Given the description of an element on the screen output the (x, y) to click on. 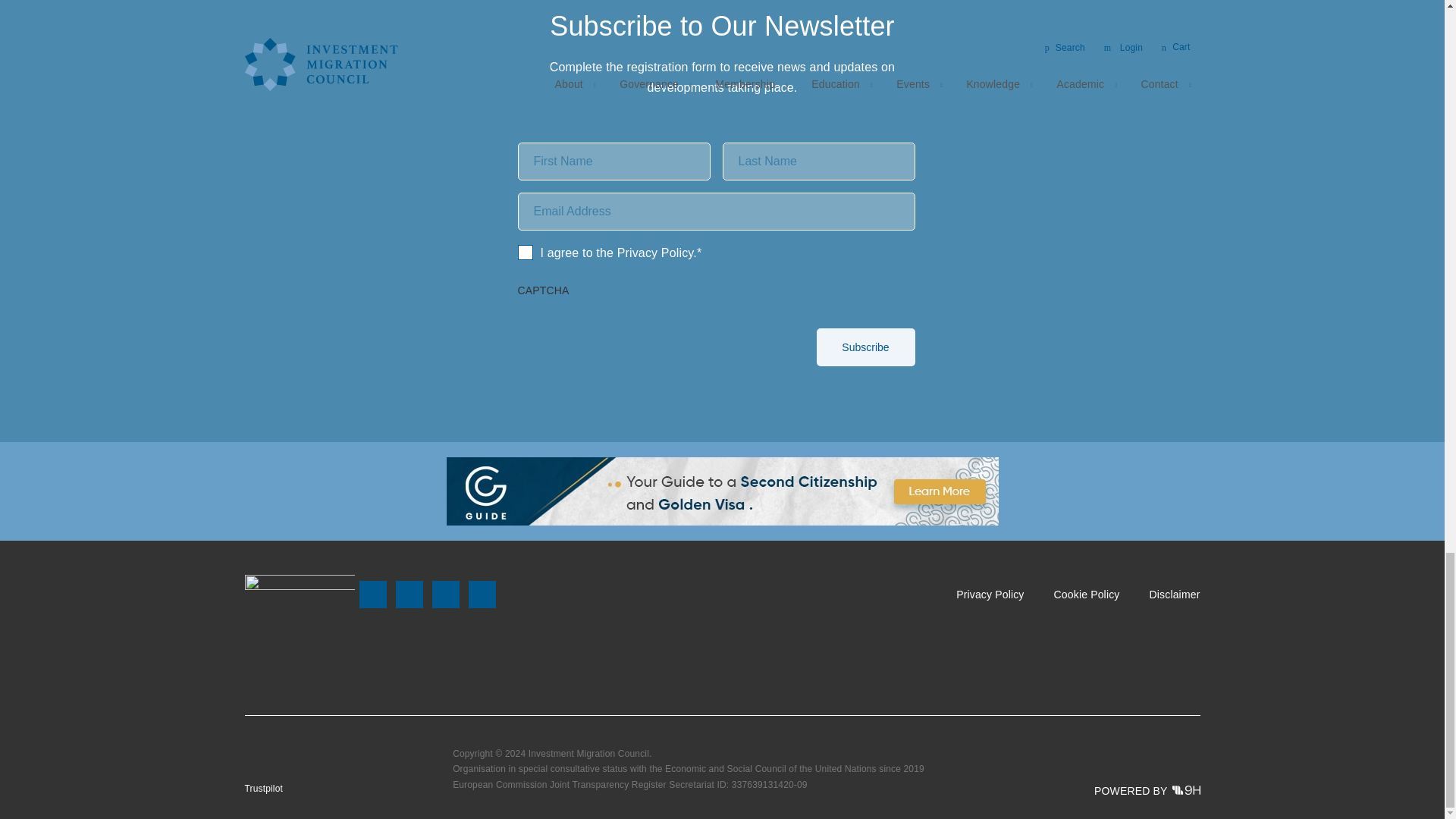
Twitter (407, 594)
Facebook (371, 594)
E-mail (480, 594)
Subscribe (864, 347)
LinkedIn (444, 594)
